Given the description of an element on the screen output the (x, y) to click on. 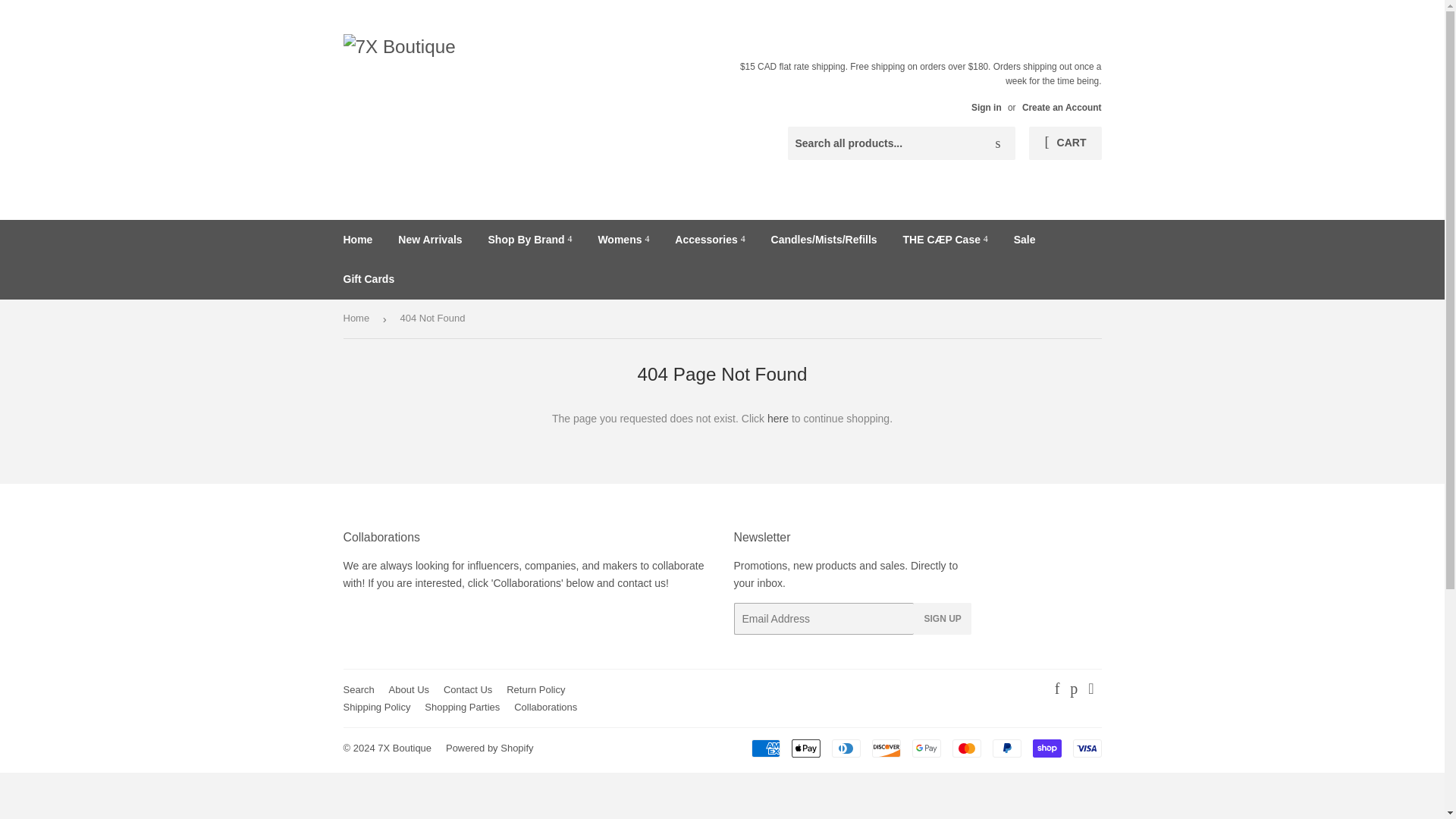
PayPal (1005, 748)
Discover (886, 748)
American Express (764, 748)
CART (1064, 142)
Sign in (986, 107)
Search (997, 143)
Create an Account (1062, 107)
Mastercard (966, 748)
Apple Pay (806, 748)
Visa (1085, 748)
